Given the description of an element on the screen output the (x, y) to click on. 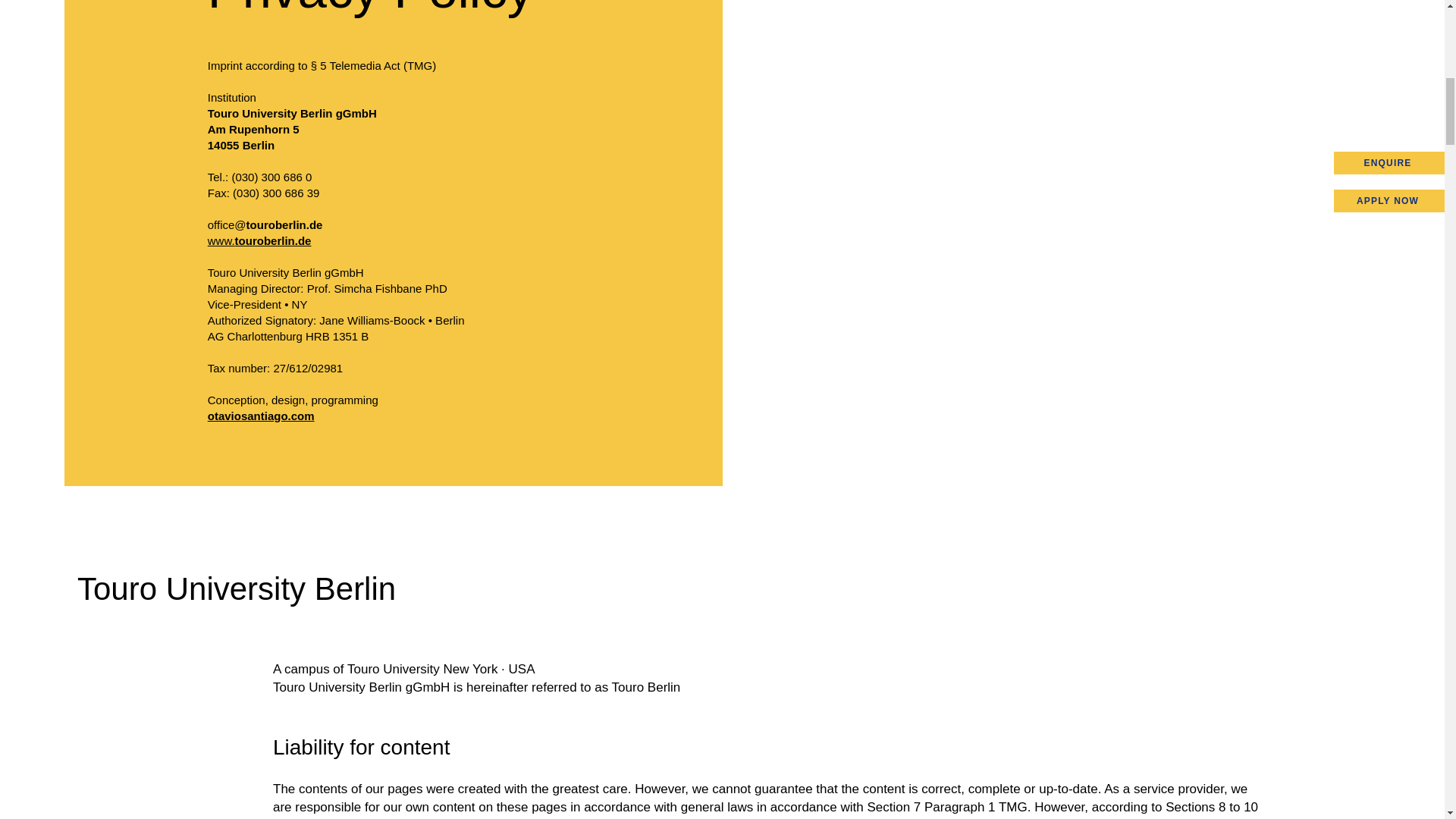
www.touroberlin.de (259, 240)
otaviosantiago.com (261, 415)
